Given the description of an element on the screen output the (x, y) to click on. 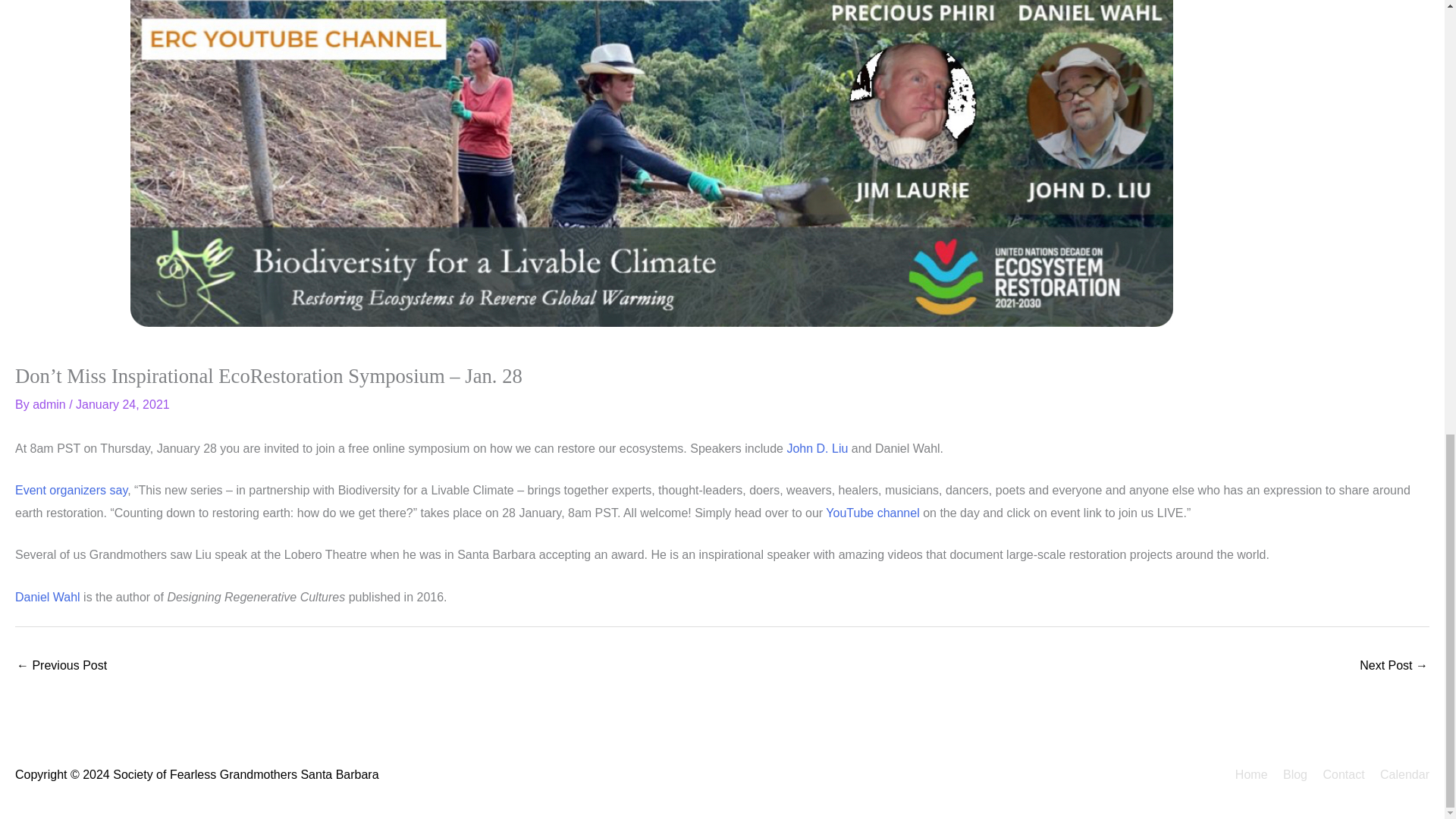
Blog (1289, 774)
admin (50, 404)
Calendar (1398, 774)
Daniel Wahl (47, 596)
View all posts by admin (50, 404)
Home (1245, 774)
YouTube channel (871, 512)
John D. Liu (816, 448)
Another Climate Win in Santa Barbara (61, 666)
Contact (1337, 774)
Event organizers say (71, 490)
